Given the description of an element on the screen output the (x, y) to click on. 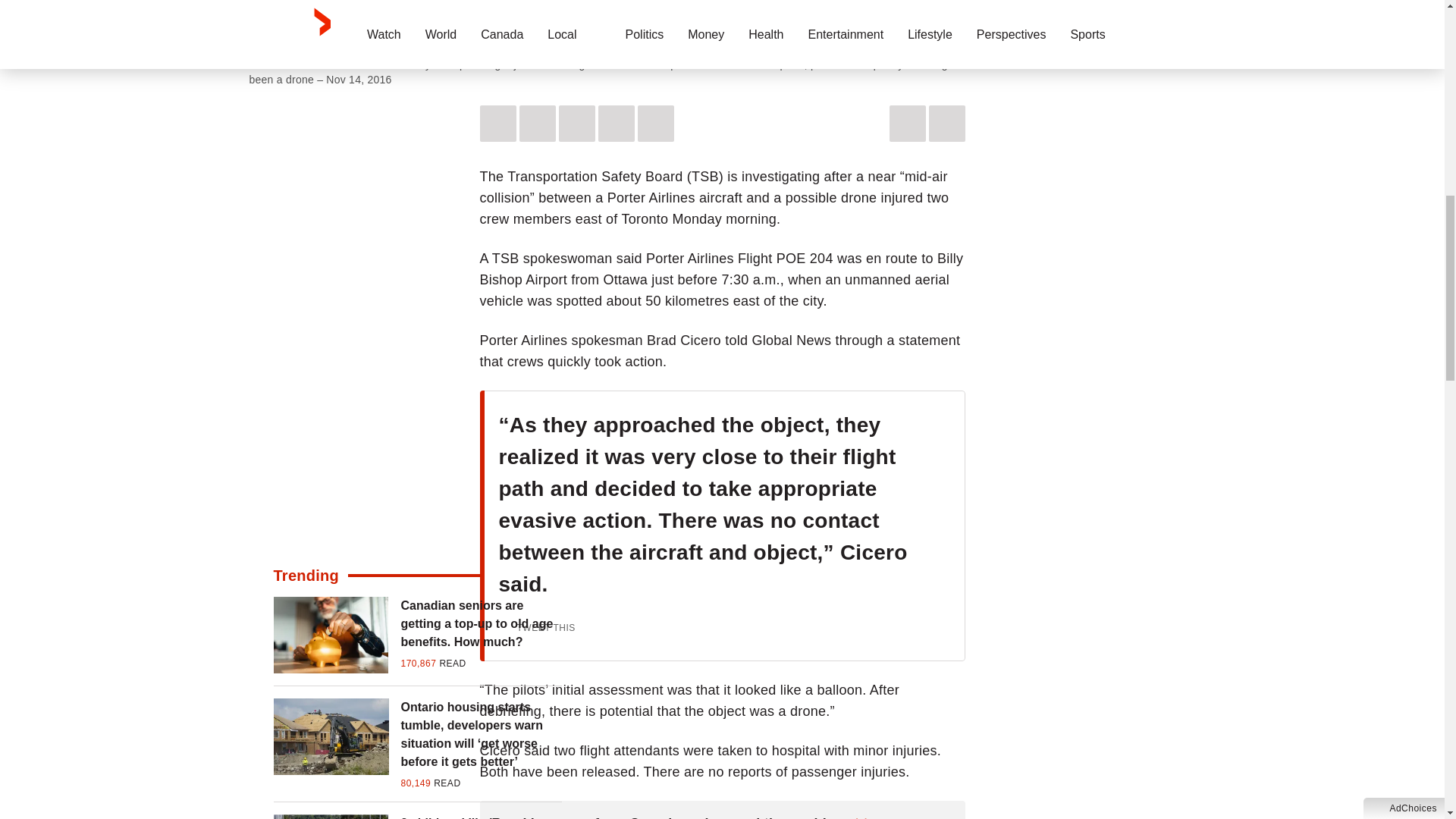
Sticky Video (721, 22)
